Given the description of an element on the screen output the (x, y) to click on. 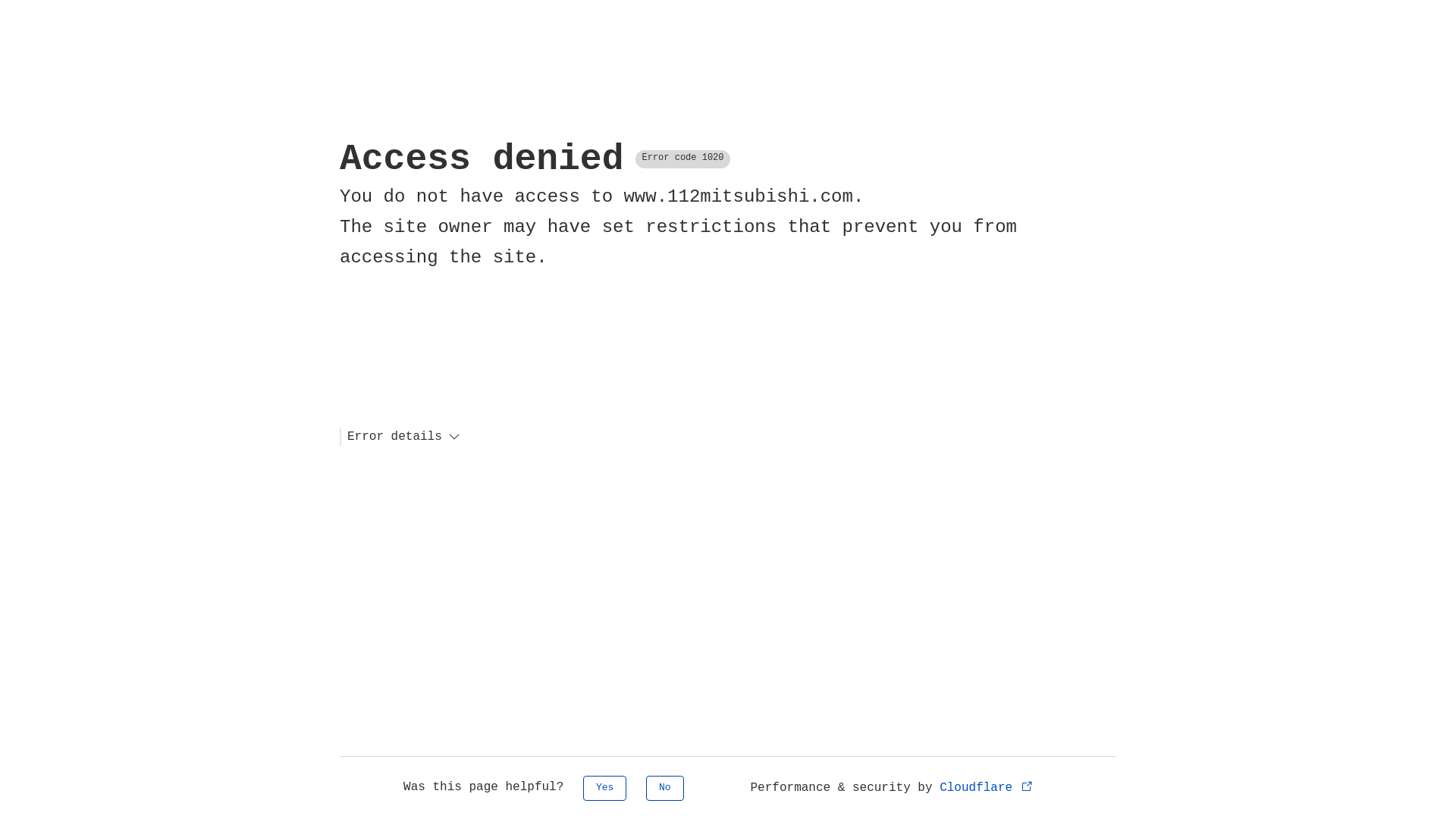
Opens in new tab Element type: hover (1027, 785)
Yes Element type: text (604, 787)
Cloudflare Element type: text (986, 787)
No Element type: text (665, 787)
